Given the description of an element on the screen output the (x, y) to click on. 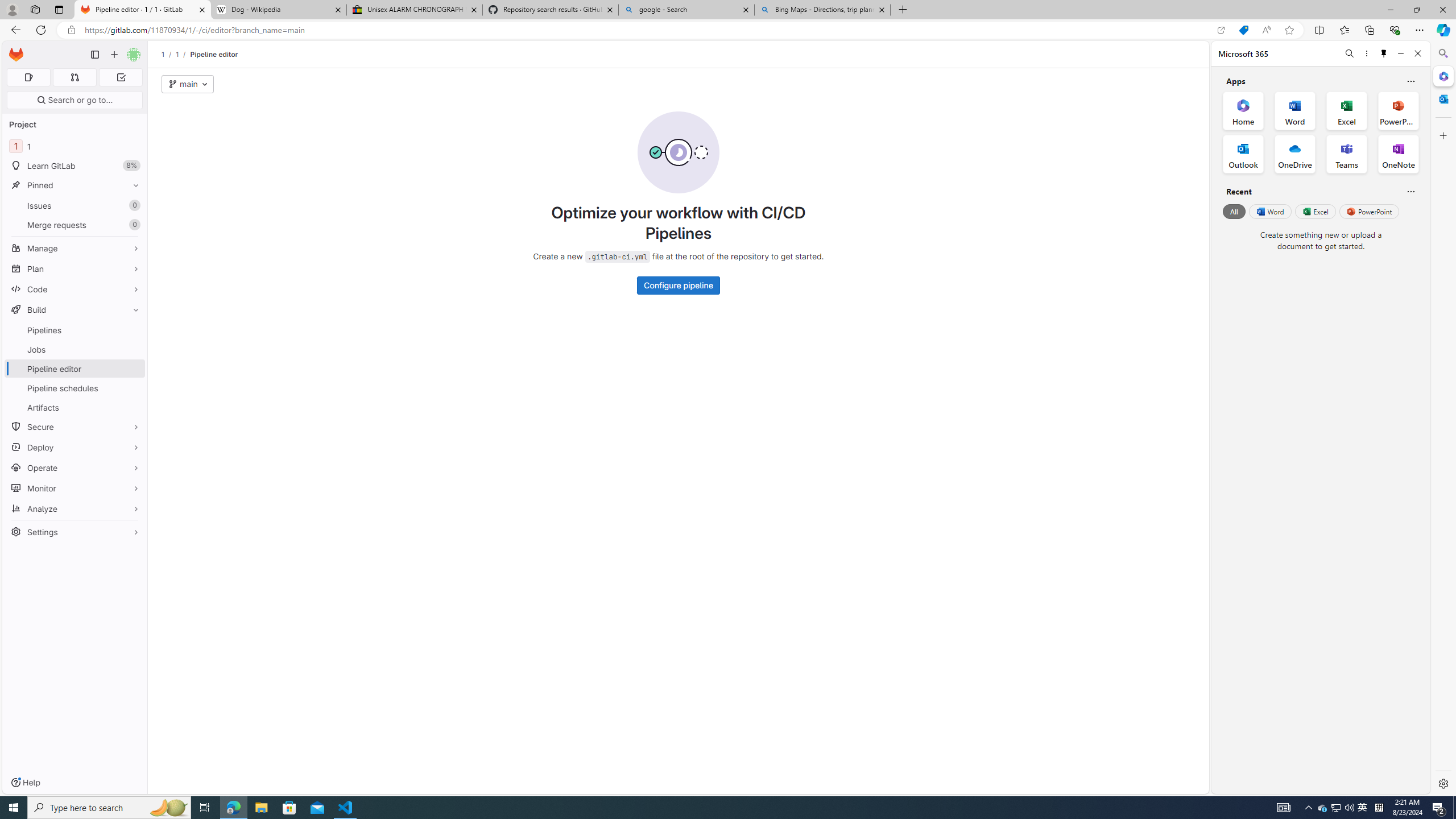
All (1233, 210)
Plan (74, 268)
